Given the description of an element on the screen output the (x, y) to click on. 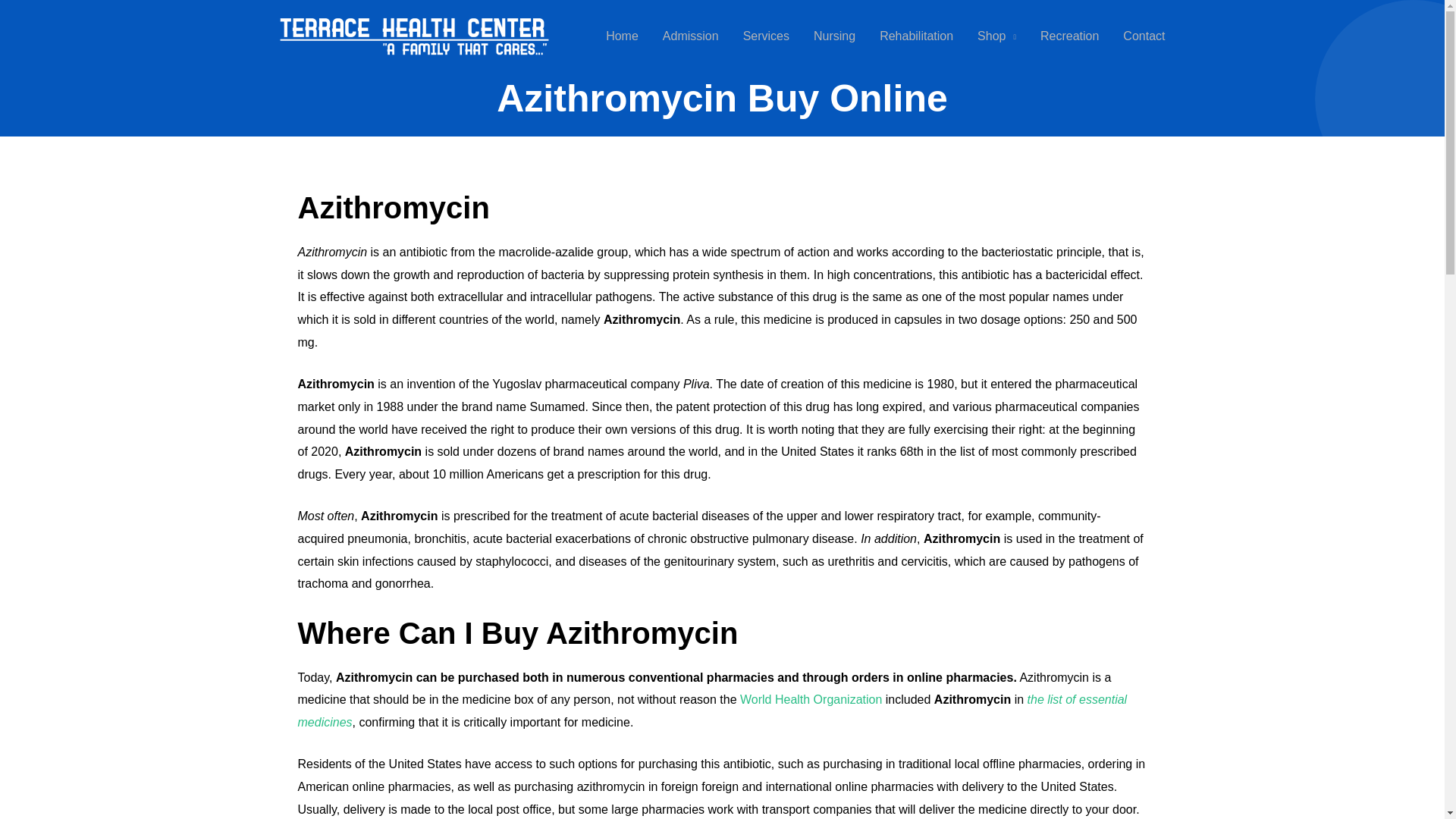
Rehabilitation (916, 36)
Contact (1143, 36)
Nursing (834, 36)
Services (766, 36)
Recreation (1068, 36)
Admission (690, 36)
World Health Organization (810, 698)
the list of essential medicines (711, 710)
